Given the description of an element on the screen output the (x, y) to click on. 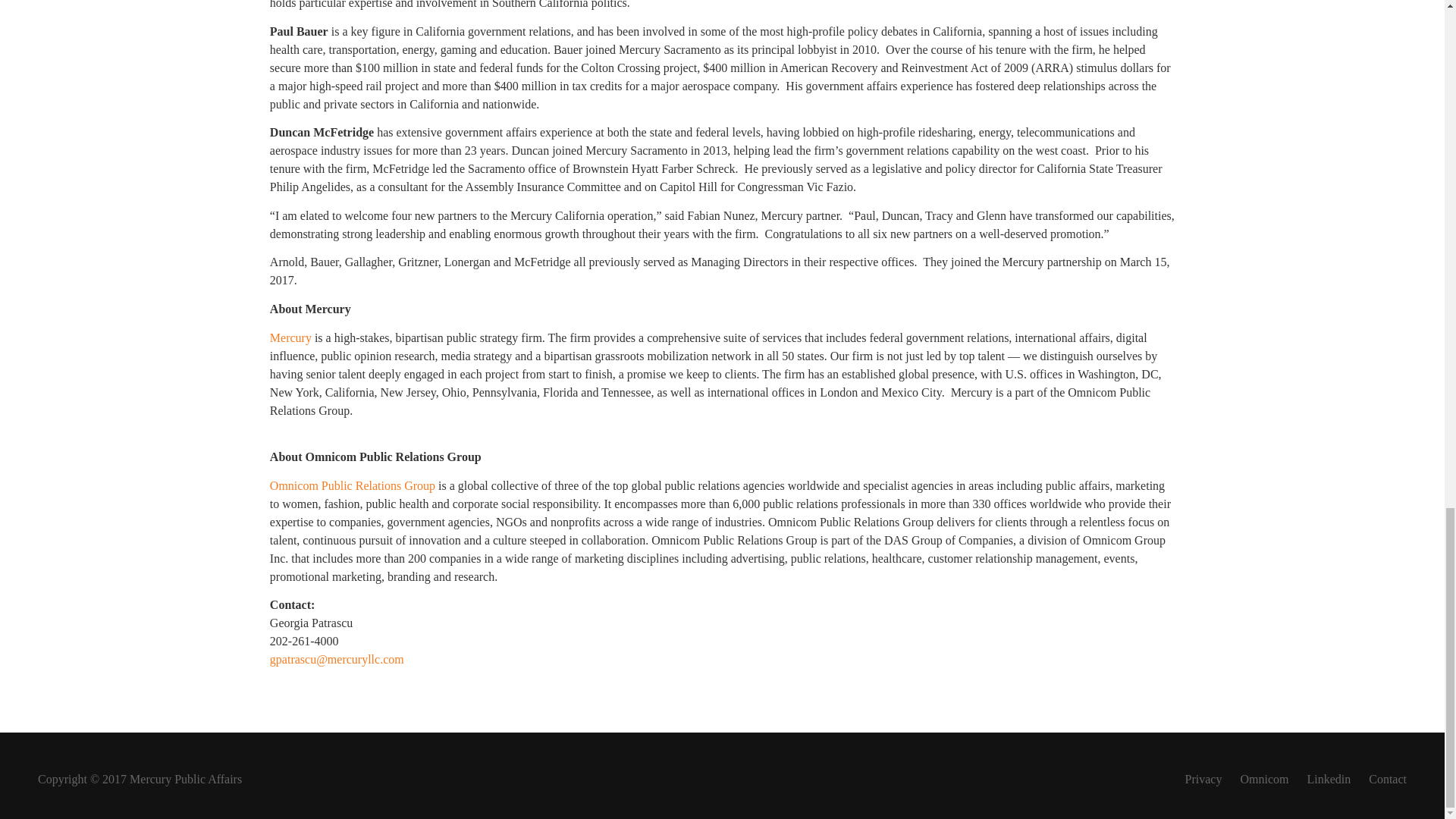
Linkedin (1328, 779)
Contact (1387, 779)
Omnicom Public Relations Group (352, 485)
Privacy (1204, 779)
Mercury (290, 337)
Omnicom (1264, 779)
